Given the description of an element on the screen output the (x, y) to click on. 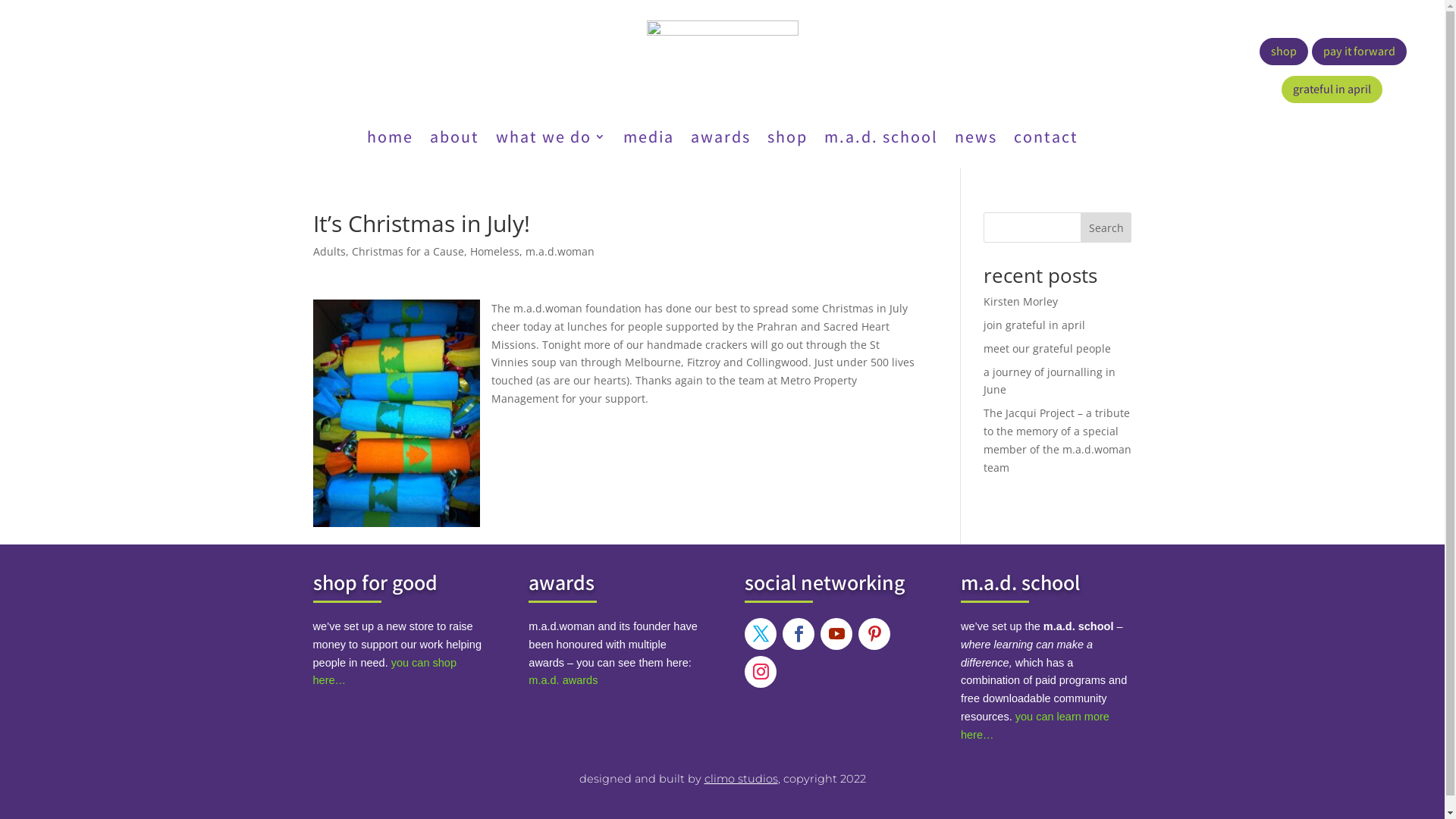
what we do Element type: text (550, 139)
climo studios Element type: text (740, 778)
meet our grateful people Element type: text (1046, 348)
media Element type: text (648, 139)
Follow on Facebook Element type: hover (798, 633)
madlogosm.fw_1 Element type: hover (721, 54)
news Element type: text (974, 139)
awards Element type: text (719, 139)
Follow on Youtube Element type: hover (836, 633)
shop Element type: text (1283, 51)
contact Element type: text (1045, 139)
Follow on Instagram Element type: hover (760, 671)
xmas jul 2014 Element type: hover (395, 413)
home Element type: text (390, 139)
Adults Element type: text (328, 251)
shop Element type: text (787, 139)
Follow on X Element type: hover (760, 633)
Christmas for a Cause Element type: text (407, 251)
m.a.d.woman Element type: text (558, 251)
about Element type: text (453, 139)
Kirsten Morley Element type: text (1020, 301)
Follow on Pinterest Element type: hover (874, 633)
grateful in april Element type: text (1331, 89)
join grateful in april Element type: text (1034, 324)
pay it forward Element type: text (1358, 51)
Search Element type: text (1106, 227)
Homeless Element type: text (494, 251)
a journey of journalling in June Element type: text (1049, 380)
m.a.d. school Element type: text (880, 139)
m.a.d. awards Element type: text (562, 680)
